Given the description of an element on the screen output the (x, y) to click on. 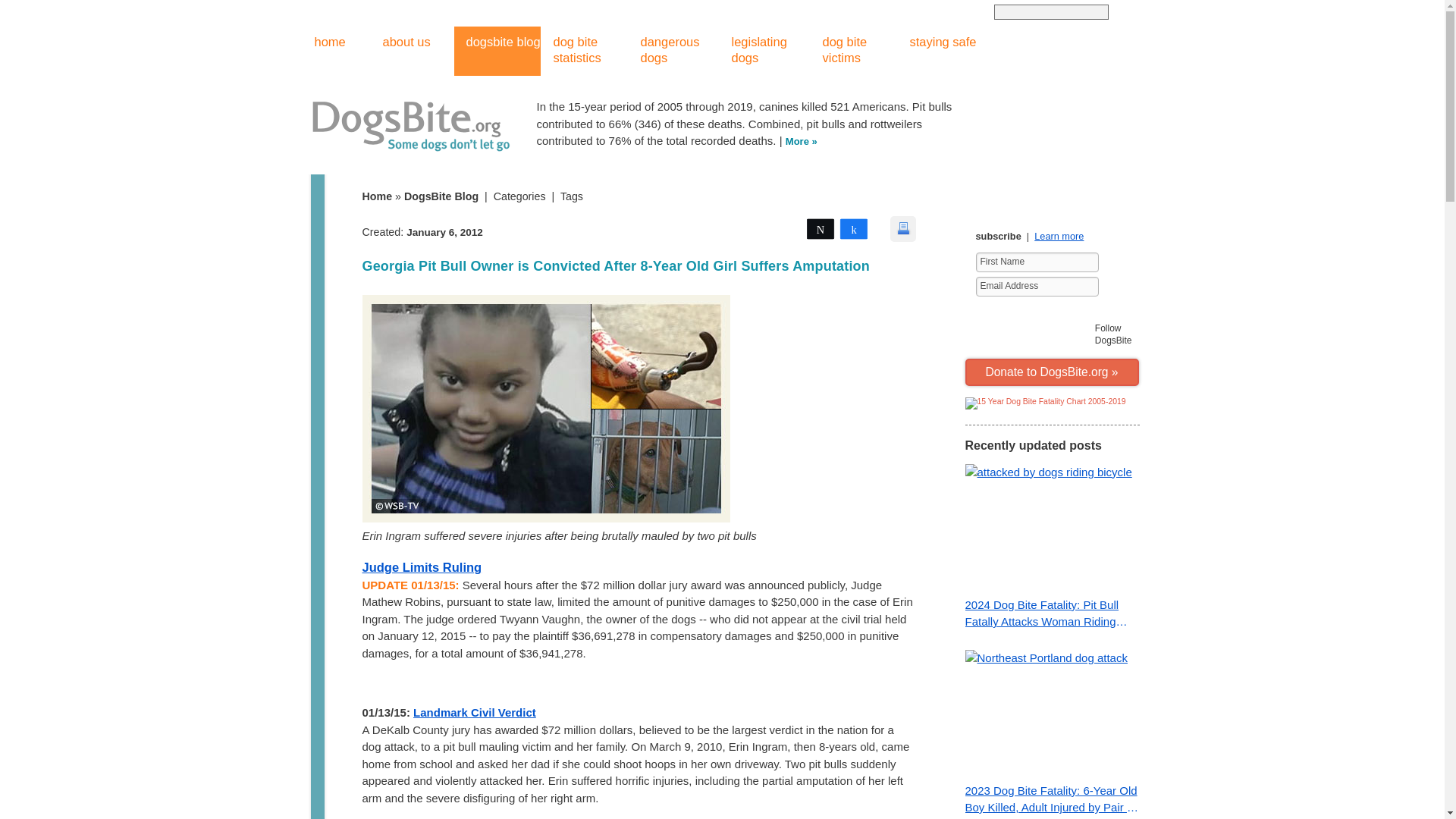
5:55 pm (444, 232)
First Name (1036, 261)
about us (399, 51)
dogsbite blog (496, 51)
Email Address (1036, 286)
dog bite statistics (584, 51)
dangerous dogs (673, 51)
Join Now (1116, 286)
